Given the description of an element on the screen output the (x, y) to click on. 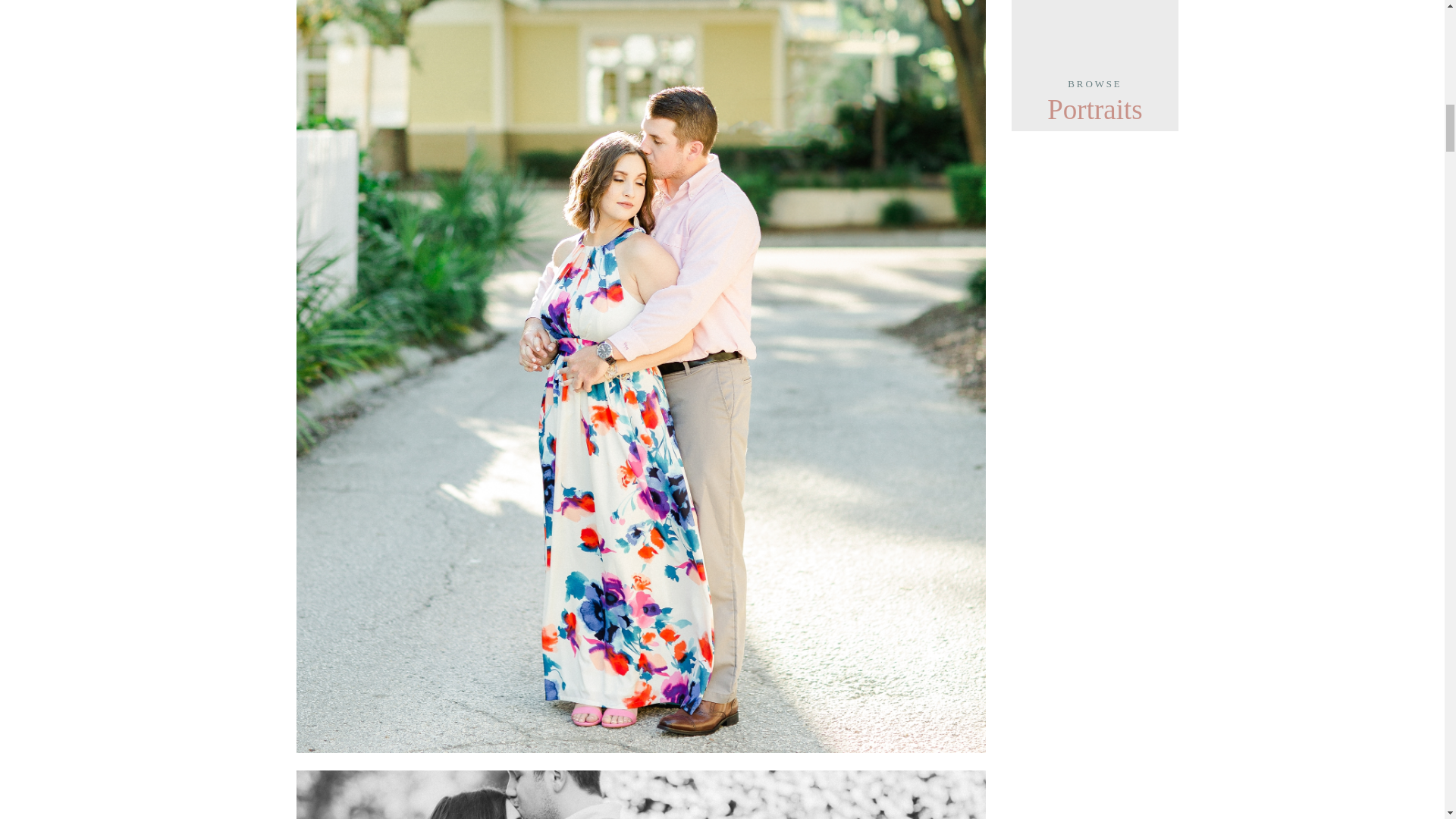
Portraits (1094, 108)
BROWSE (1094, 91)
